Given the description of an element on the screen output the (x, y) to click on. 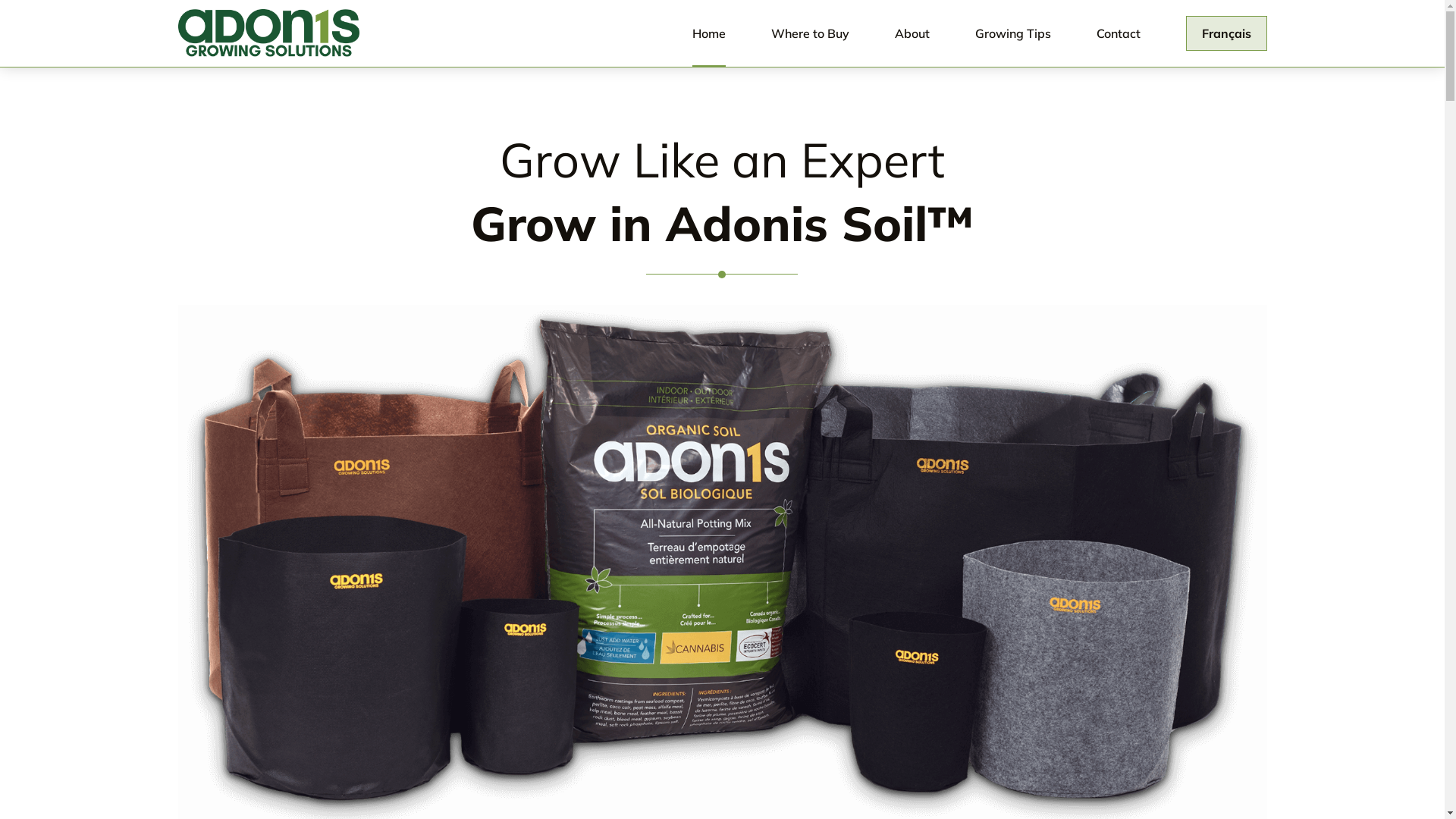
Home Element type: text (707, 33)
Where to Buy Element type: text (809, 33)
About Element type: text (911, 33)
Growing Tips Element type: text (1013, 33)
Contact Element type: text (1118, 33)
